Given the description of an element on the screen output the (x, y) to click on. 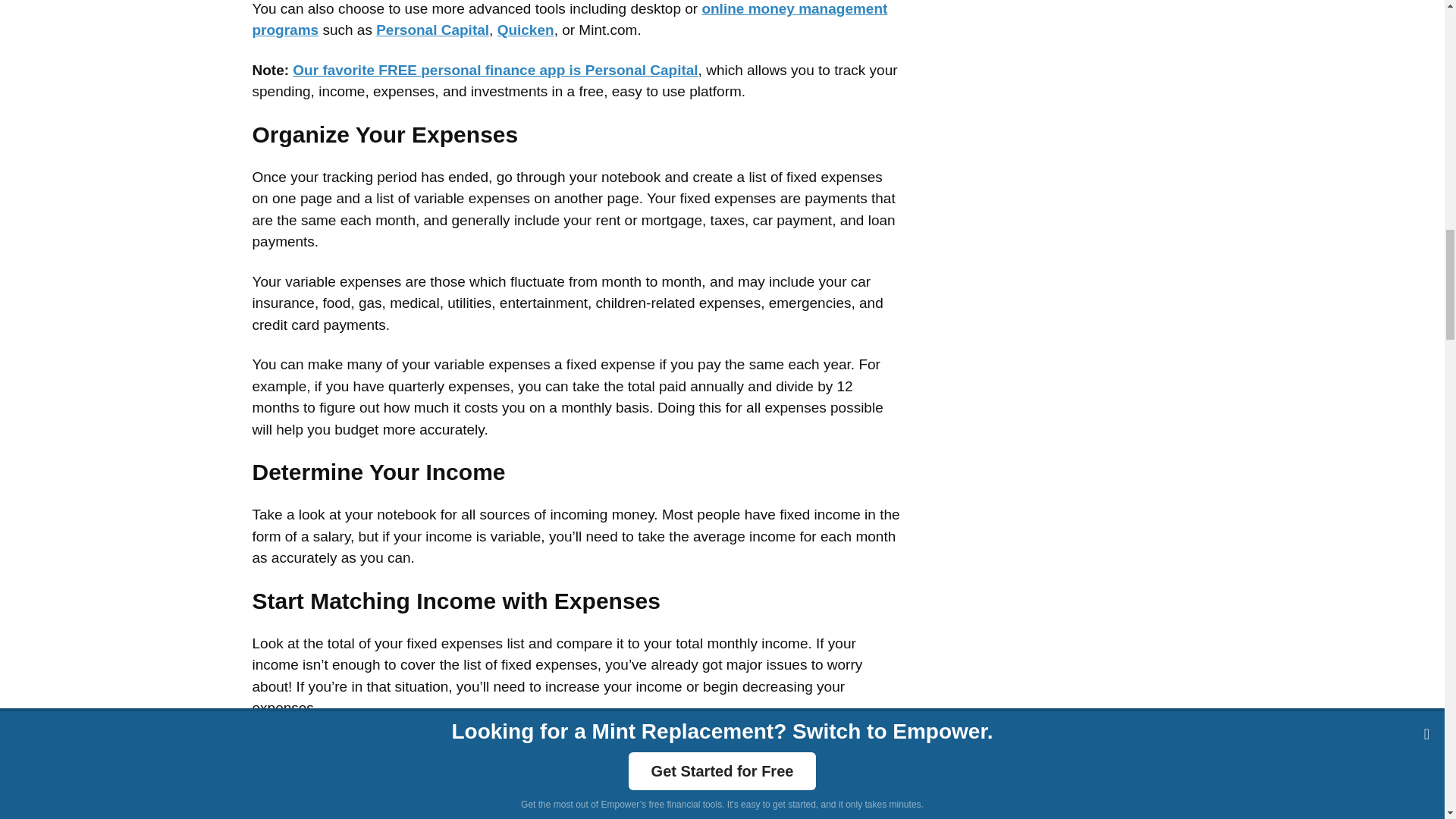
free money management tools (568, 19)
Quicken Coupon Codes (525, 29)
